Given the description of an element on the screen output the (x, y) to click on. 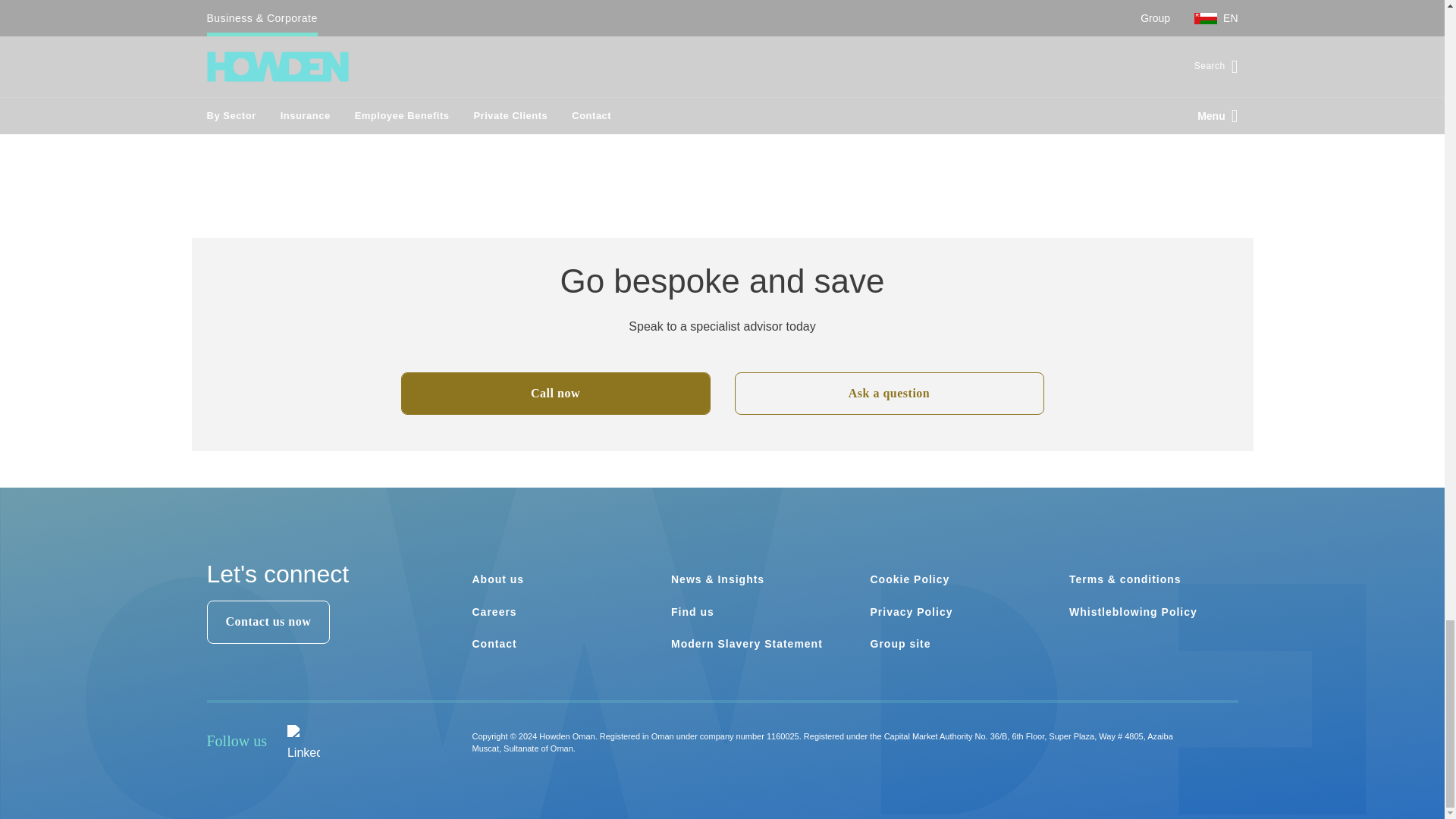
Modern Slavery Statement (746, 644)
Careers (493, 612)
Cookie Policy (910, 579)
Contact (493, 644)
About us (497, 579)
Whistleblowing Policy (1132, 612)
Find us (692, 612)
Privacy Policy (911, 612)
Group site (900, 644)
